Given the description of an element on the screen output the (x, y) to click on. 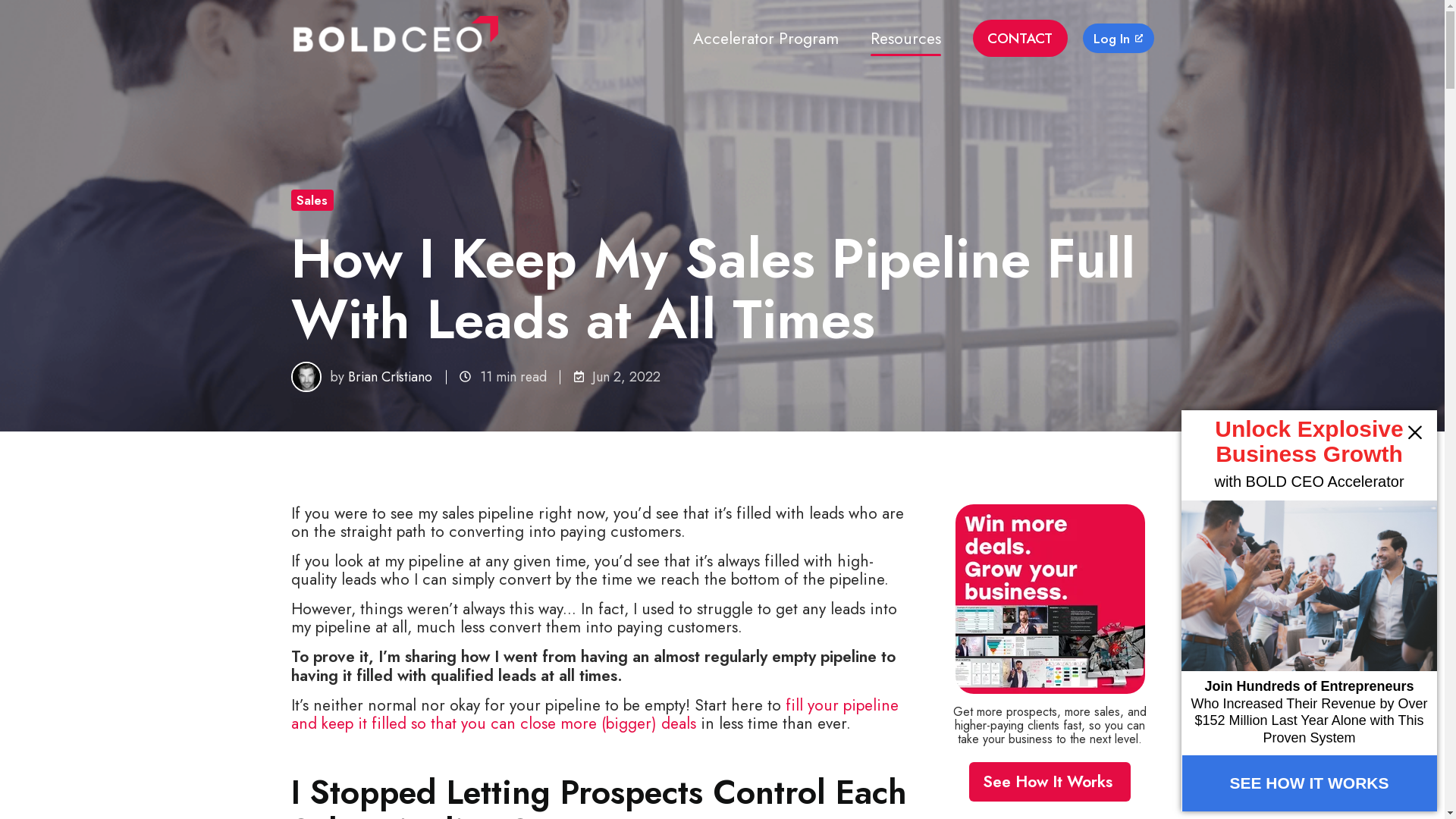
Brian Cristiano Element type: text (390, 376)
Accelerator Program Element type: text (765, 38)
Log In Element type: text (1118, 38)
Resources Element type: text (905, 38)
Sales Element type: text (312, 199)
See How It Works  Element type: text (1049, 782)
bold-ceo-logo-small-light Element type: hover (394, 37)
CONTACT Element type: text (1019, 37)
